Given the description of an element on the screen output the (x, y) to click on. 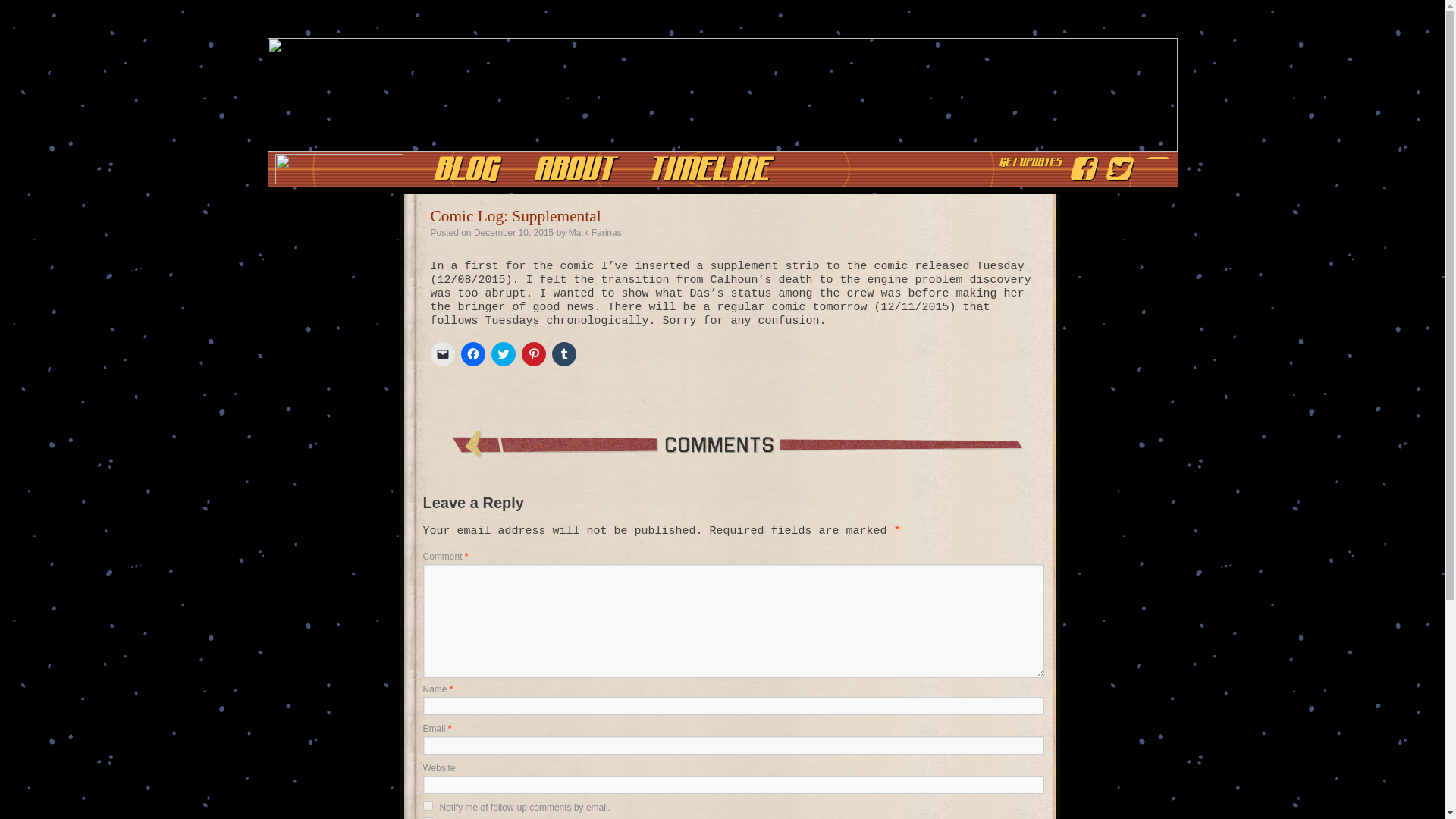
Mark Farinas (595, 232)
Click to share on Twitter (503, 354)
View all posts by Mark Farinas (595, 232)
subscribe (427, 805)
Click to share on Pinterest (533, 354)
Click to share on Facebook (472, 354)
December 10, 2015 (513, 232)
Click to share on Tumblr (563, 354)
Click to email a link to a friend (442, 354)
